Given the description of an element on the screen output the (x, y) to click on. 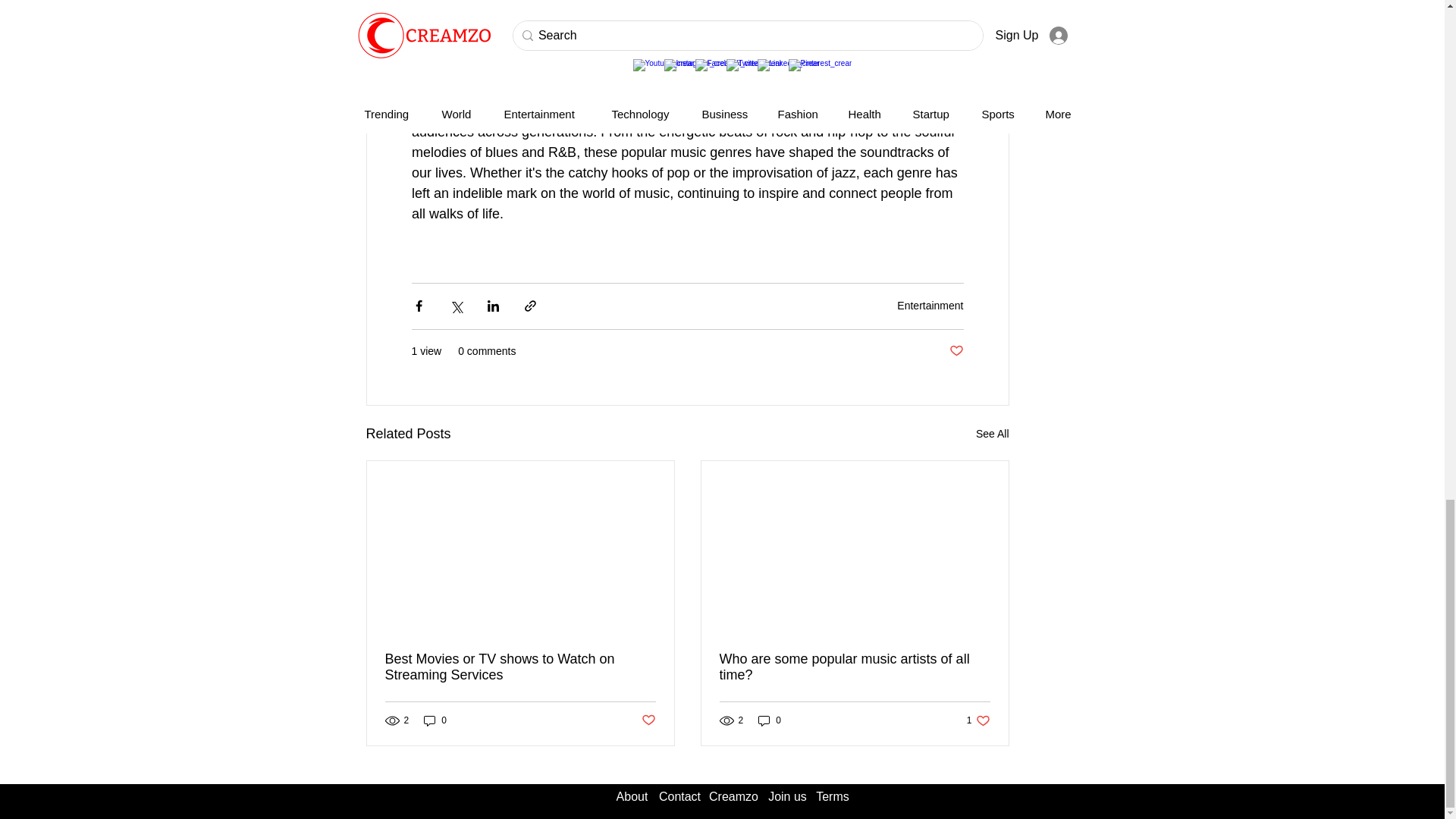
Entertainment (978, 720)
Best Movies or TV shows to Watch on Streaming Services (929, 305)
See All (520, 667)
0 (992, 434)
Post not marked as liked (435, 720)
Who are some popular music artists of all time? (956, 351)
Post not marked as liked (854, 667)
0 (649, 720)
